Given the description of an element on the screen output the (x, y) to click on. 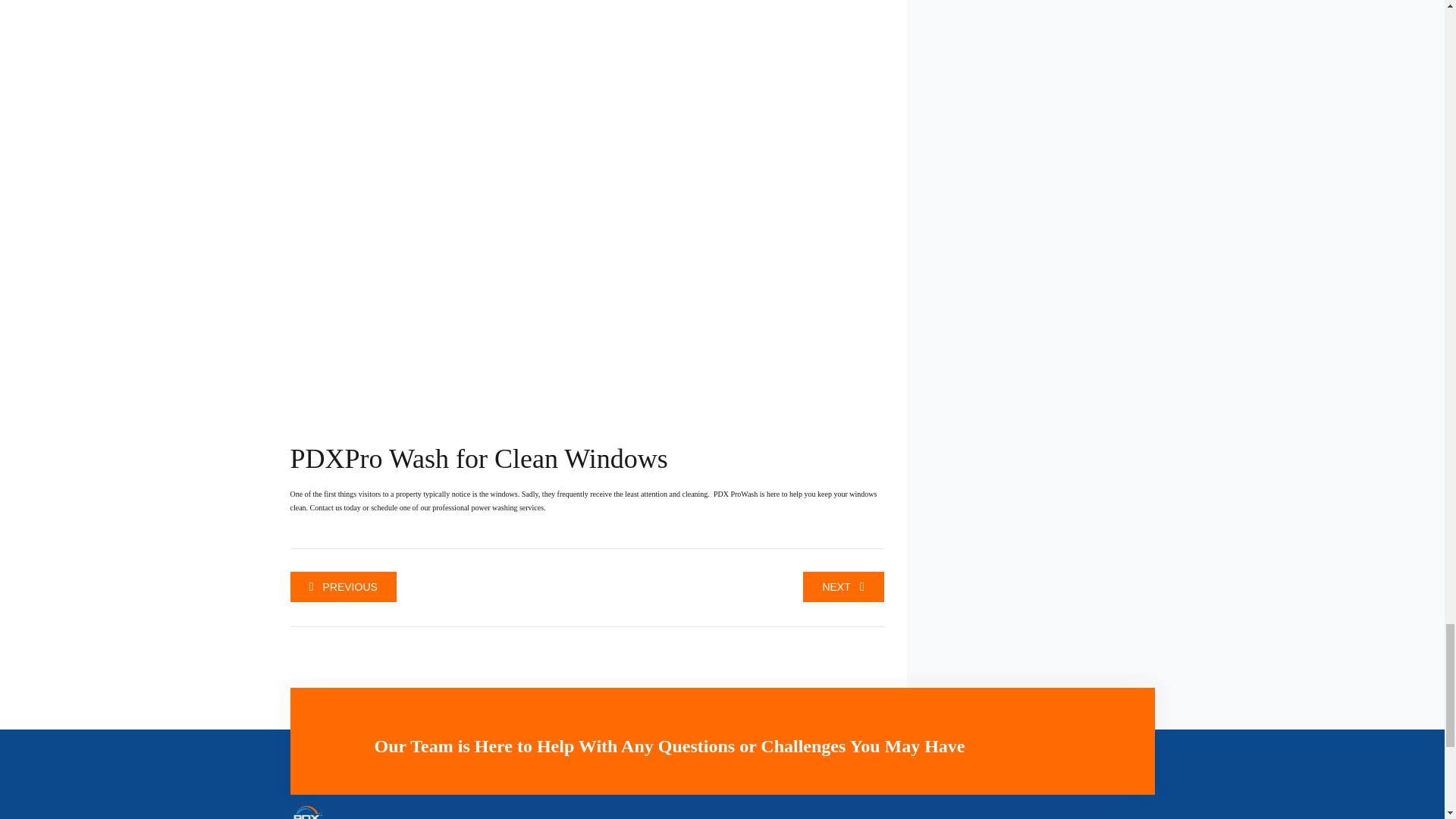
Extra Parking Space Ideas (342, 586)
NEXT (843, 586)
Contact us (324, 507)
PREVIOUS (342, 586)
professional power washing services (486, 507)
12 Vinyl Window Maintenance Tips (843, 586)
PDX ProWash (735, 493)
